Given the description of an element on the screen output the (x, y) to click on. 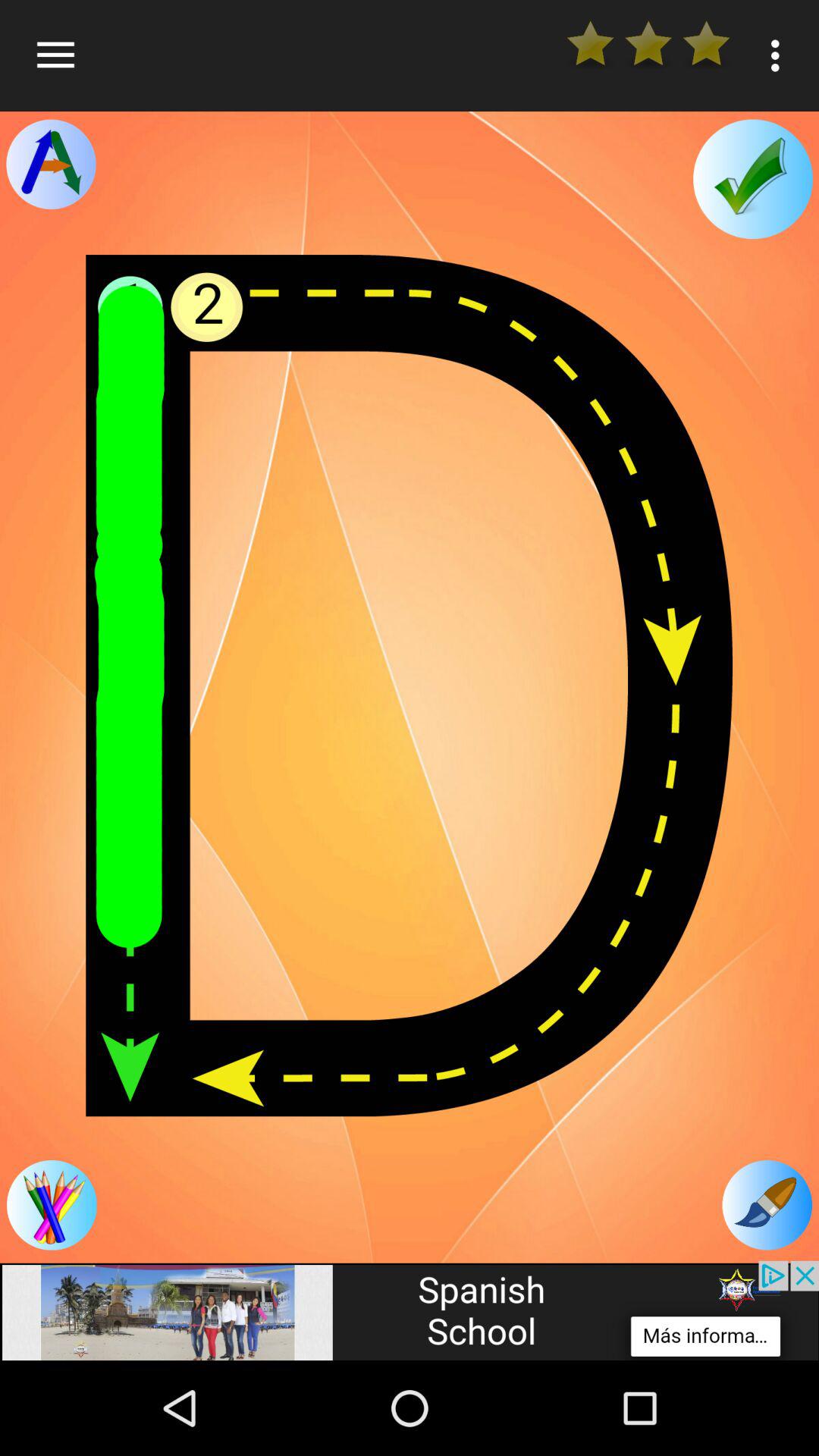
main canvas (409, 685)
